Given the description of an element on the screen output the (x, y) to click on. 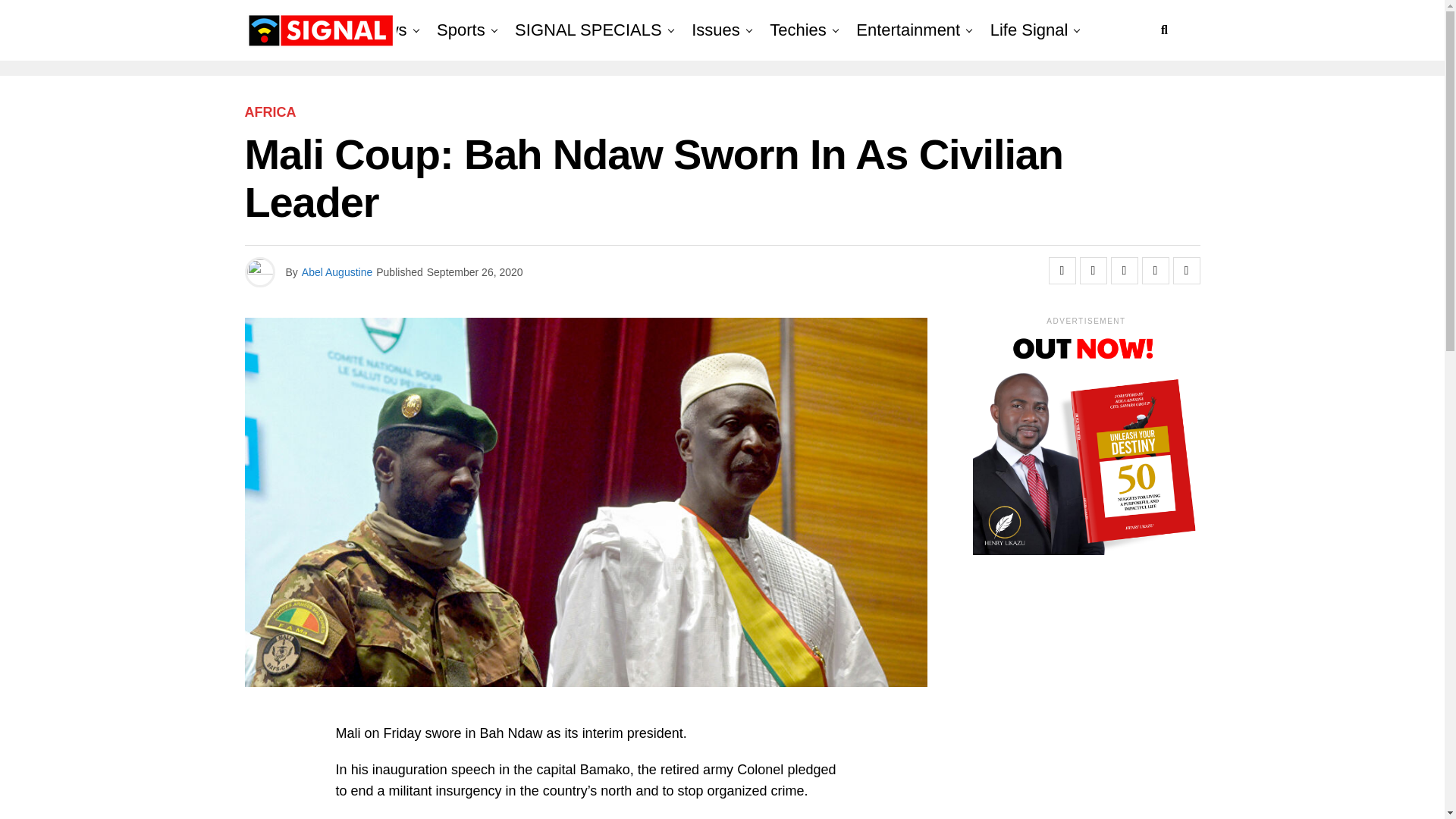
Tweet This Post (1093, 270)
News (386, 30)
Posts by Abel Augustine (336, 272)
Share on Facebook (1061, 270)
